Given the description of an element on the screen output the (x, y) to click on. 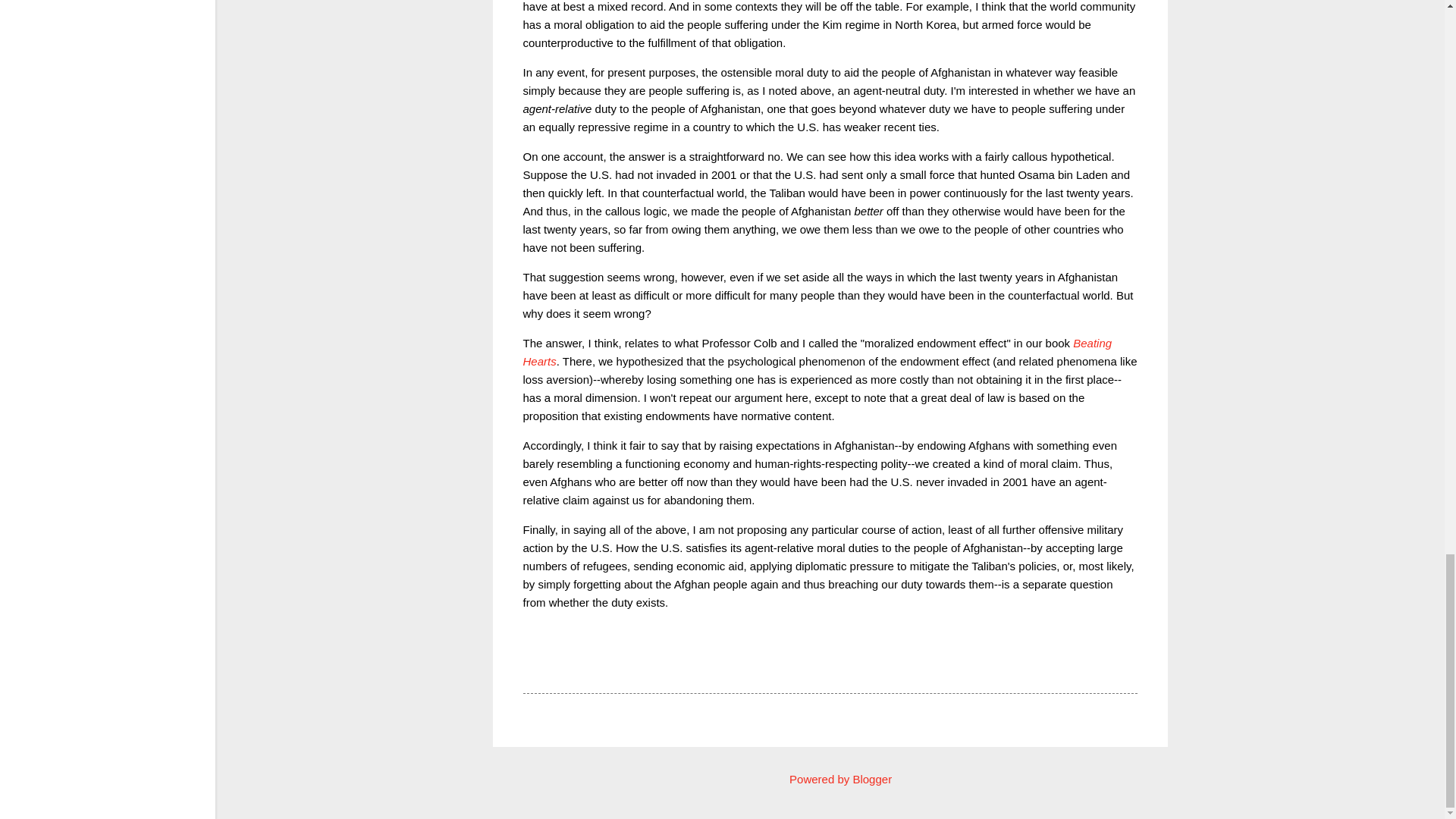
Beating Hearts (817, 351)
Powered by Blogger (829, 779)
Email Post (562, 666)
